Given the description of an element on the screen output the (x, y) to click on. 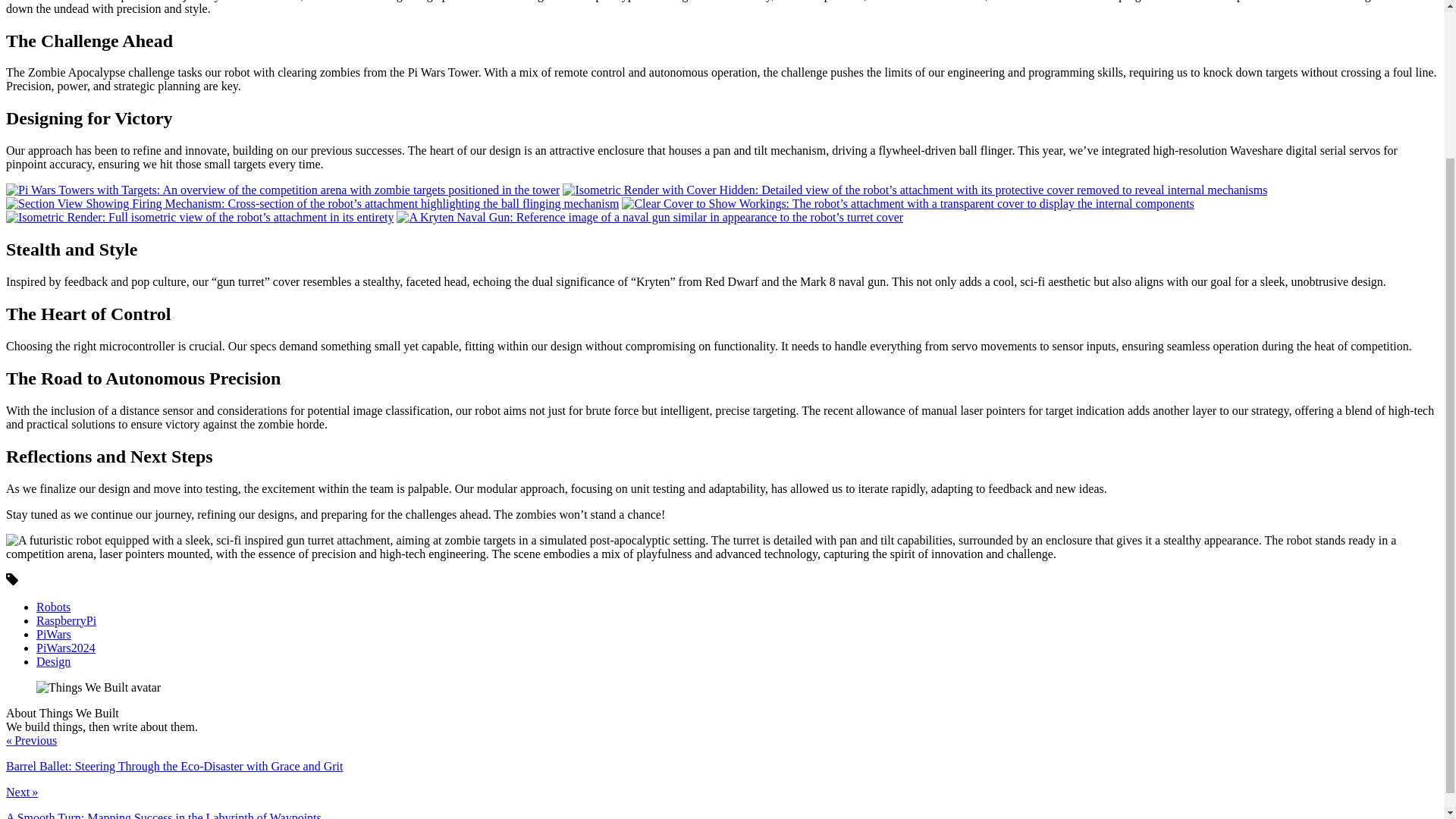
PiWars2024 (66, 646)
Design (52, 660)
PiWars (53, 633)
RaspberryPi (66, 619)
